Given the description of an element on the screen output the (x, y) to click on. 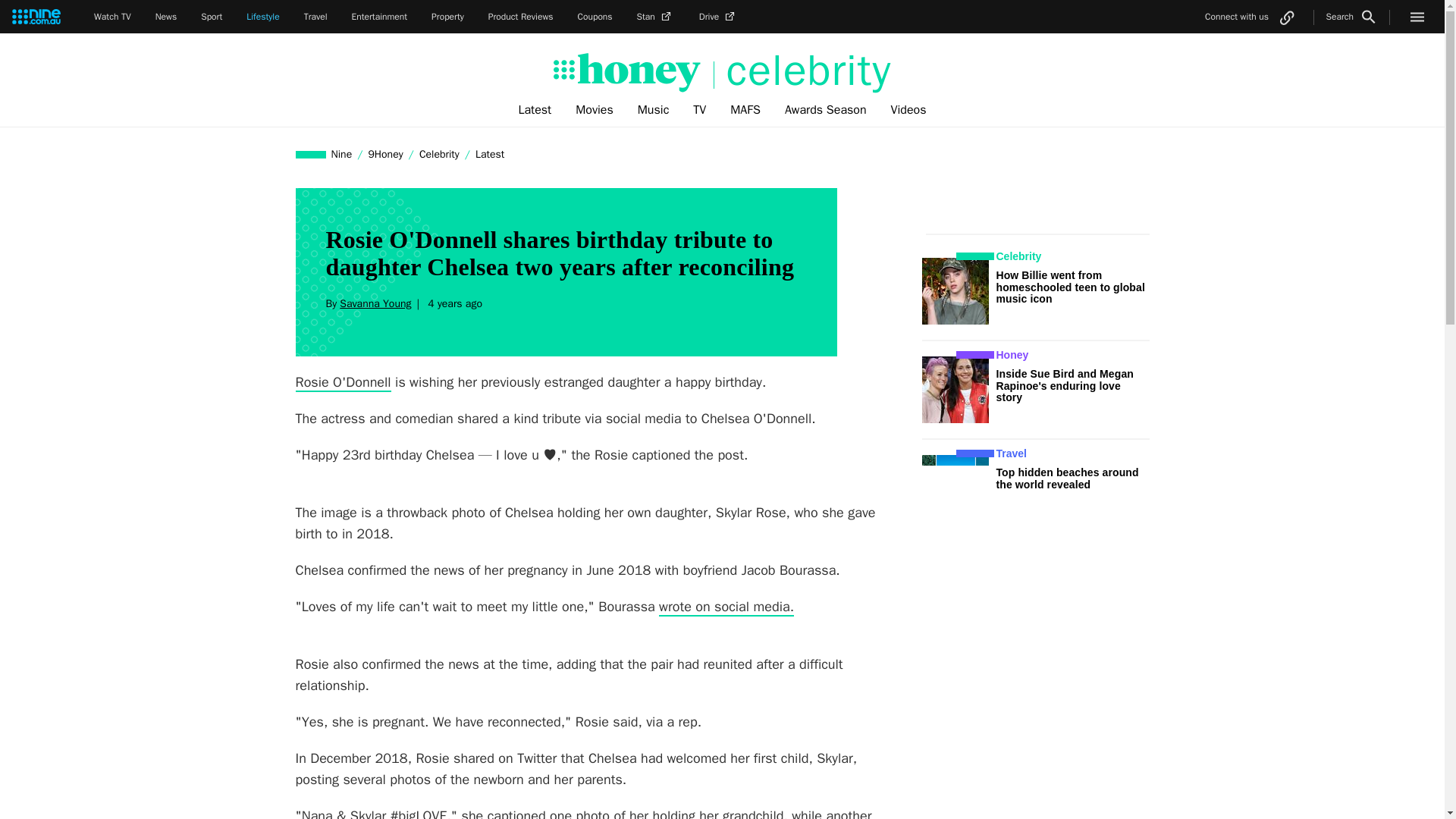
Music (653, 109)
Product Reviews (520, 16)
celebrity (802, 71)
Videos (909, 109)
MAFS (745, 109)
Lifestyle (262, 16)
Drive (718, 16)
Entertainment (379, 16)
Watch TV (112, 16)
Coupons (595, 16)
